Given the description of an element on the screen output the (x, y) to click on. 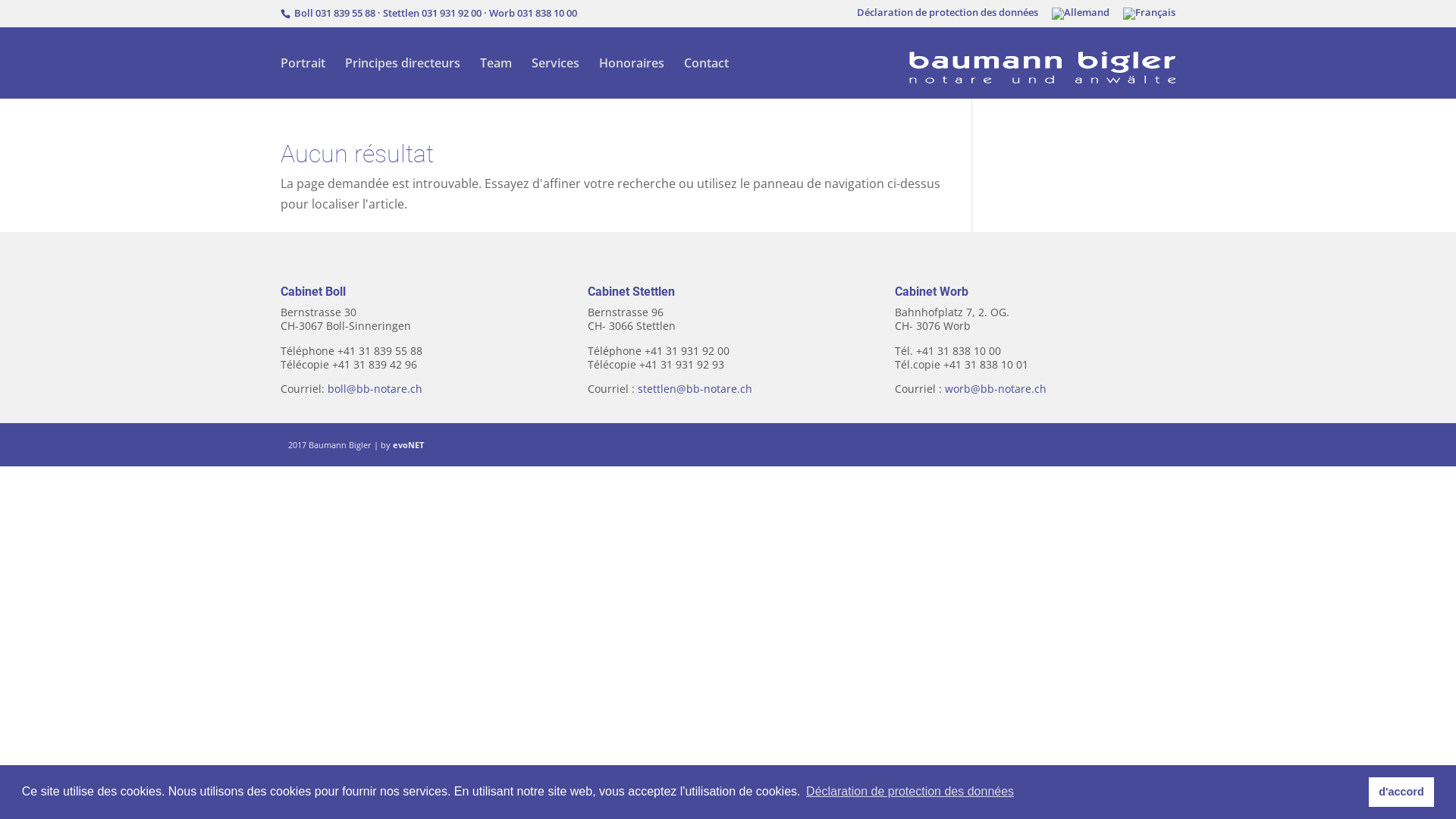
stettlen@bb-notare.ch Element type: text (694, 388)
Principes directeurs Element type: text (402, 77)
Contact Element type: text (706, 77)
Services Element type: text (555, 77)
Portrait Element type: text (302, 77)
boll@bb-notare.ch Element type: text (374, 388)
Team Element type: text (495, 77)
Honoraires Element type: text (631, 77)
d'accord Element type: text (1401, 791)
evoNET Element type: text (407, 443)
worb@bb-notare.ch Element type: text (995, 388)
